Given the description of an element on the screen output the (x, y) to click on. 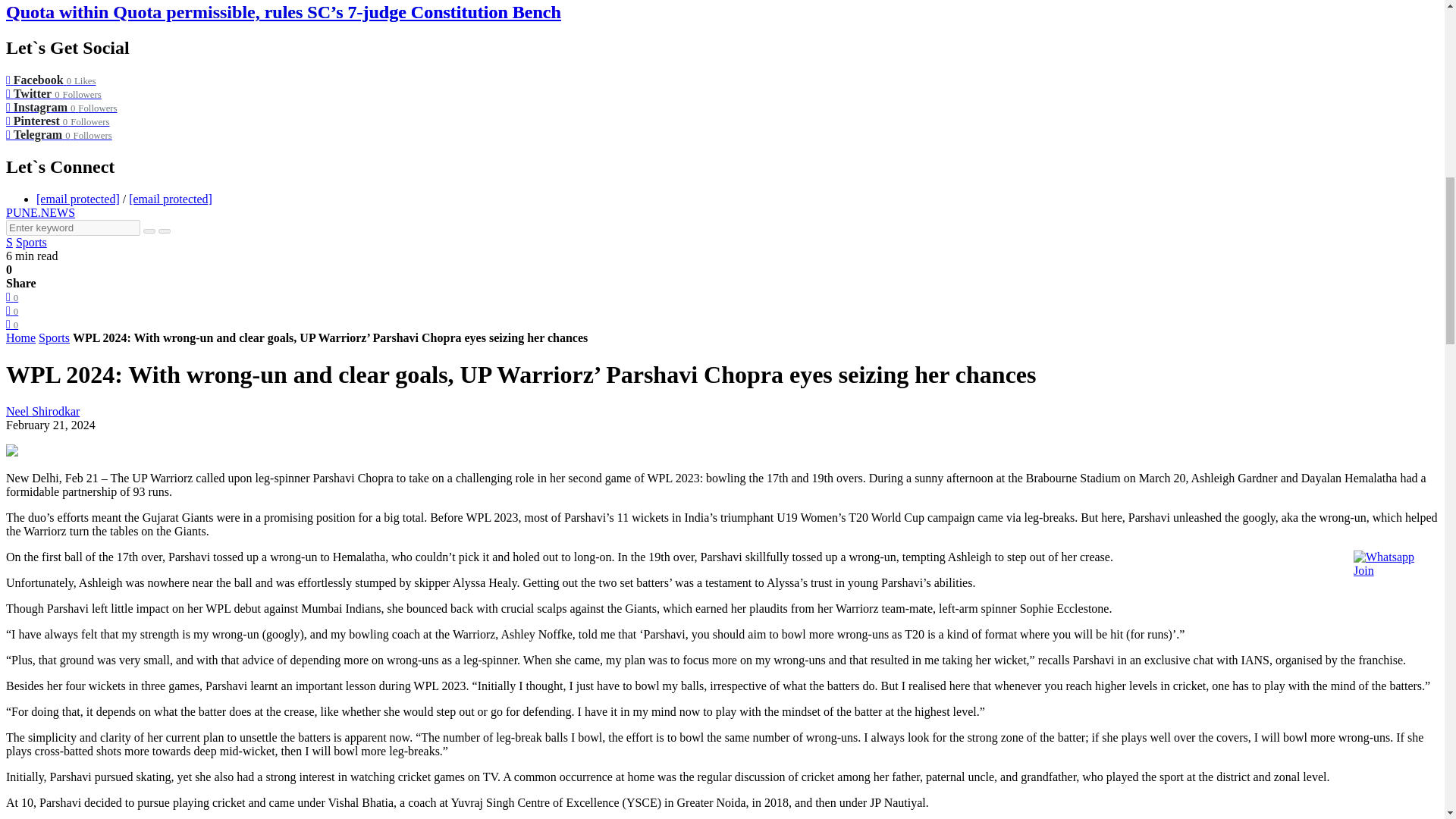
Twitter 0 Followers (53, 92)
0 (11, 296)
0 (11, 309)
View all posts by Neel Shirodkar (42, 410)
Sports (31, 241)
Home (19, 337)
0 (11, 323)
Instagram 0 Followers (61, 106)
Pinterest 0 Followers (57, 120)
Sports (54, 337)
Telegram 0 Followers (58, 133)
PUNE.NEWS (40, 212)
Facebook 0 Likes (50, 79)
